Given the description of an element on the screen output the (x, y) to click on. 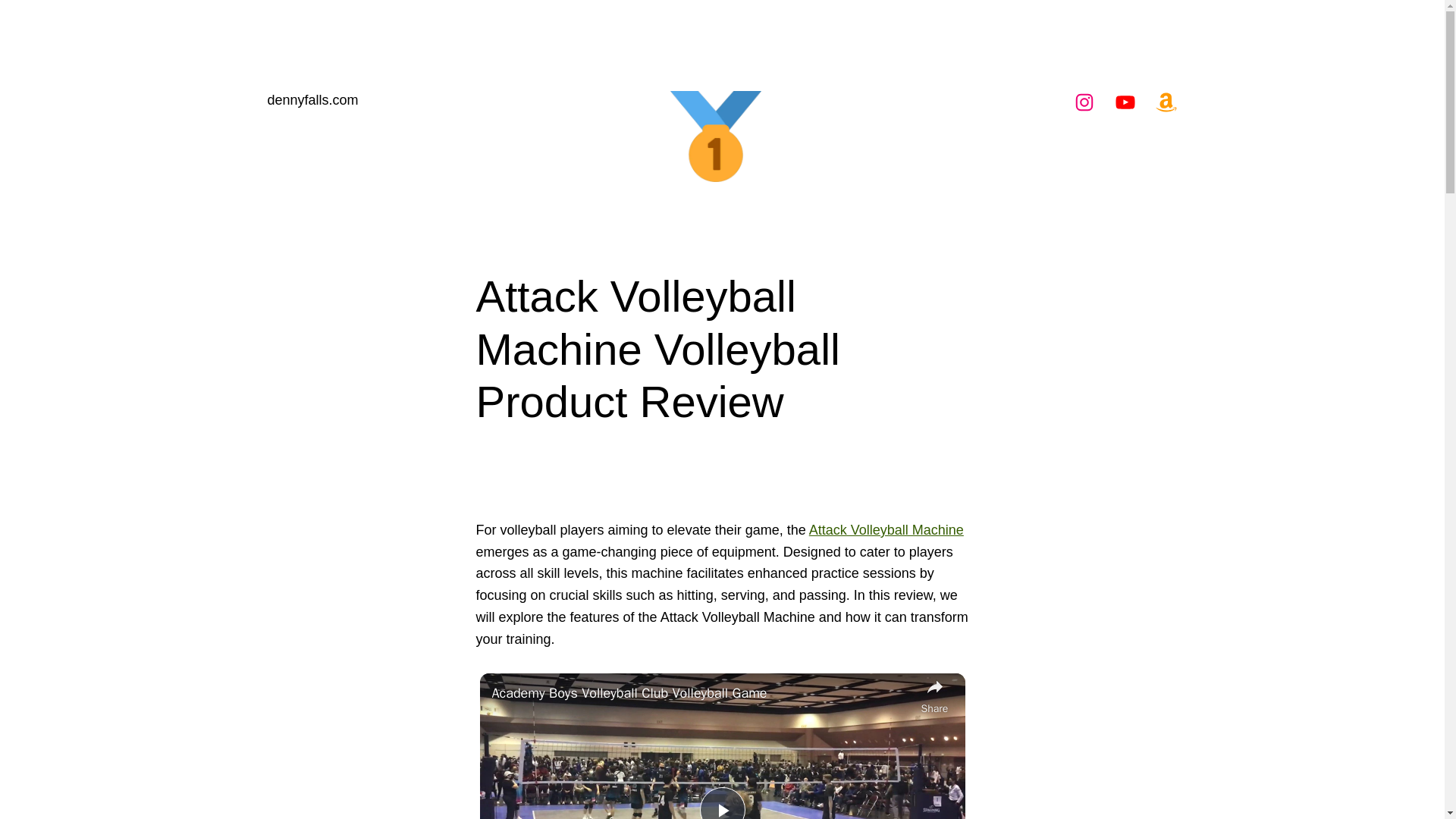
Play Video (721, 803)
Amazon (1165, 101)
Attack Volleyball Machine (886, 529)
dennyfalls.com (312, 99)
Academy Boys Volleyball Club Volleyball Game (702, 693)
YouTube (1124, 101)
Instagram (1082, 101)
Play Video (721, 803)
